Given the description of an element on the screen output the (x, y) to click on. 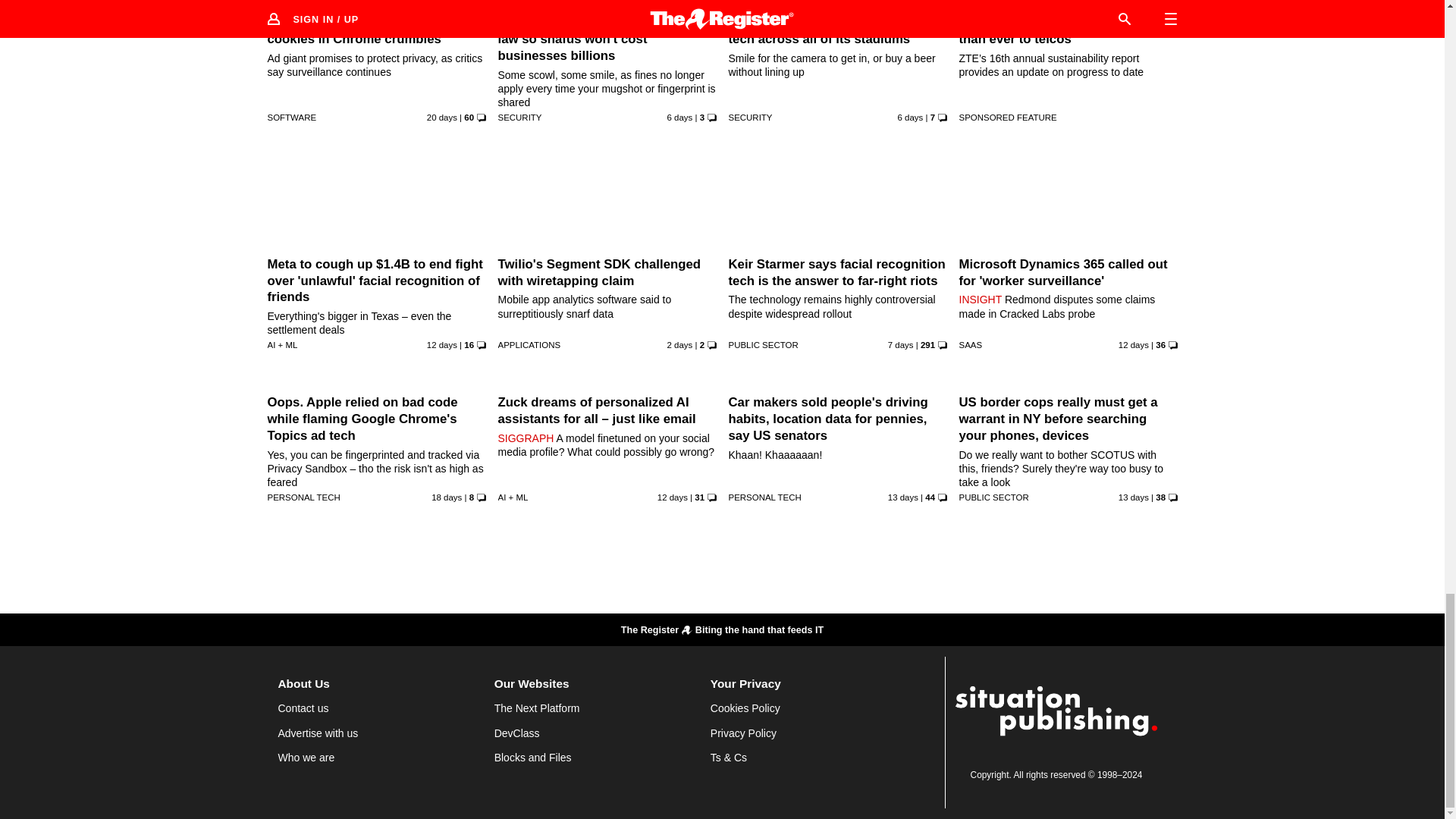
6 Aug 2024 2:45 (679, 117)
24 Jul 2024 20:44 (445, 497)
23 Jul 2024 0:3 (441, 117)
31 Jul 2024 7:39 (1133, 344)
6 Aug 2024 1:43 (910, 117)
5 Aug 2024 9:24 (901, 344)
30 Jul 2024 17:15 (672, 497)
9 Aug 2024 23:28 (679, 344)
30 Jul 2024 19:22 (441, 344)
